Given the description of an element on the screen output the (x, y) to click on. 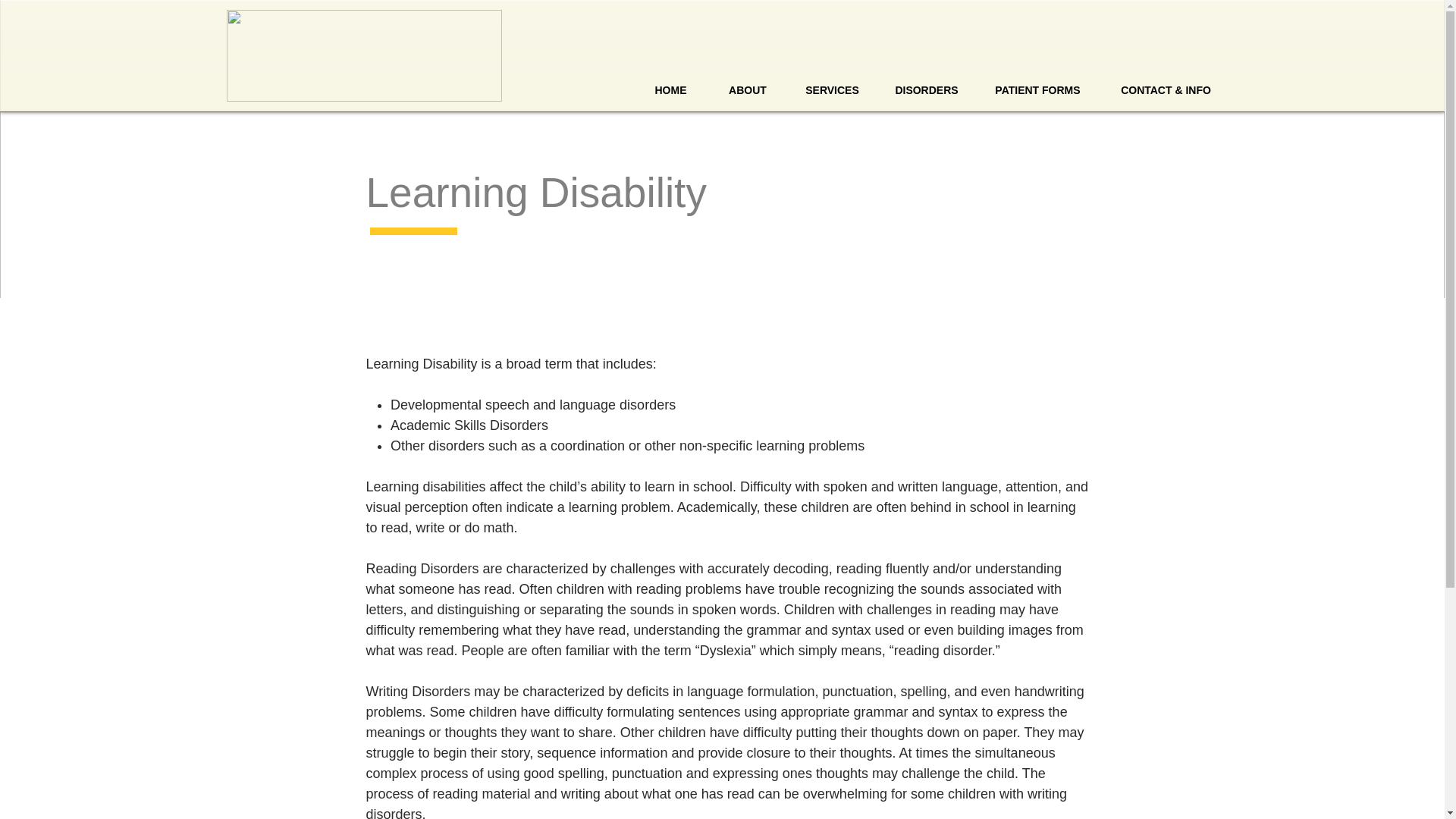
SERVICES (831, 90)
ABOUT (747, 90)
HOME (670, 90)
PATIENT FORMS (1037, 90)
DISORDERS (925, 90)
